Given the description of an element on the screen output the (x, y) to click on. 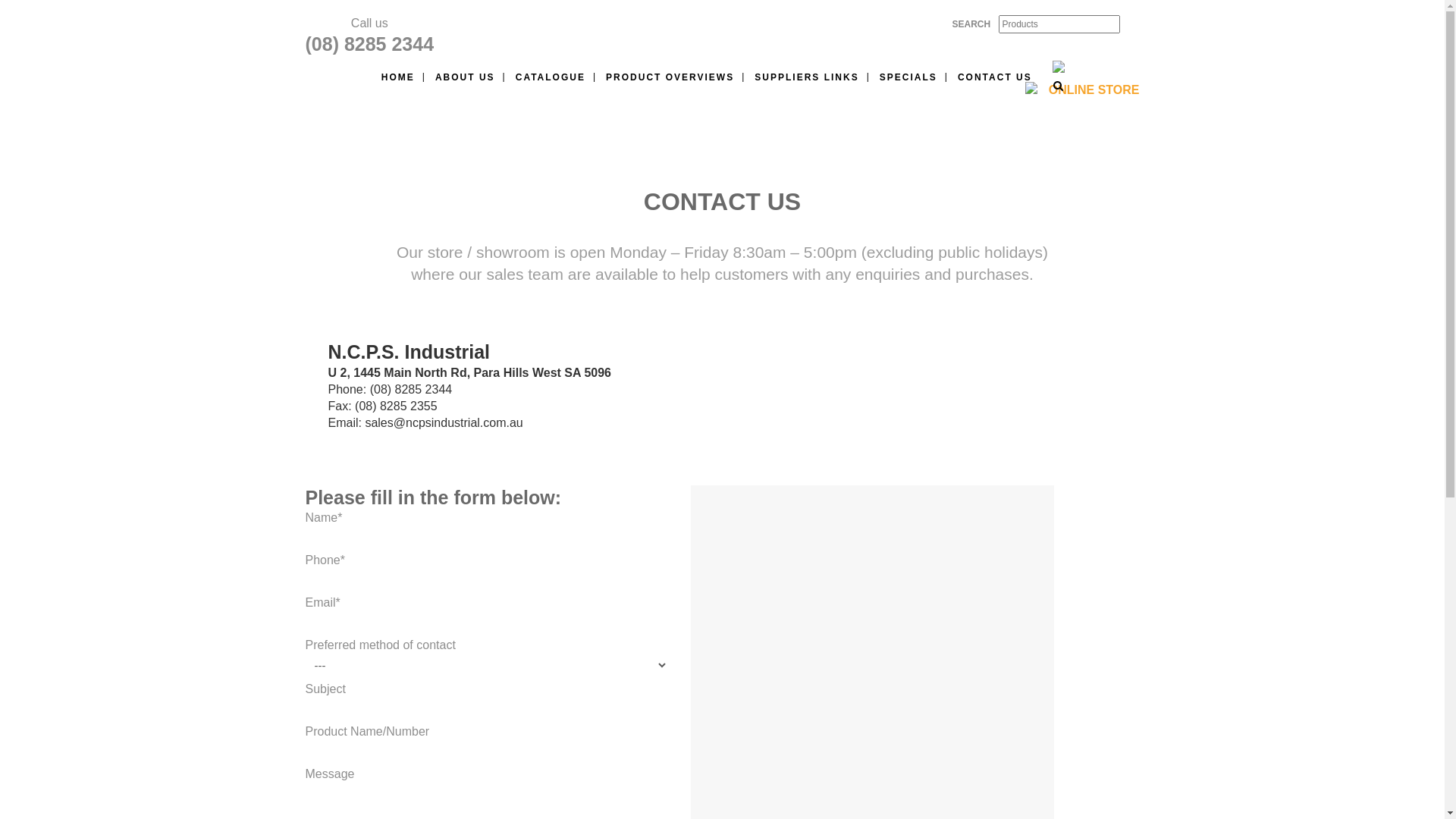
SPECIALS Element type: text (908, 77)
ONLINE STORE Element type: text (1093, 89)
ABOUT US Element type: text (465, 77)
PRODUCT OVERVIEWS Element type: text (669, 77)
sales@ncpsindustrial.com.au Element type: text (443, 422)
CATALOGUE Element type: text (550, 77)
HOME Element type: text (397, 77)
SUPPLIERS LINKS Element type: text (806, 77)
CONTACT US Element type: text (994, 77)
